Given the description of an element on the screen output the (x, y) to click on. 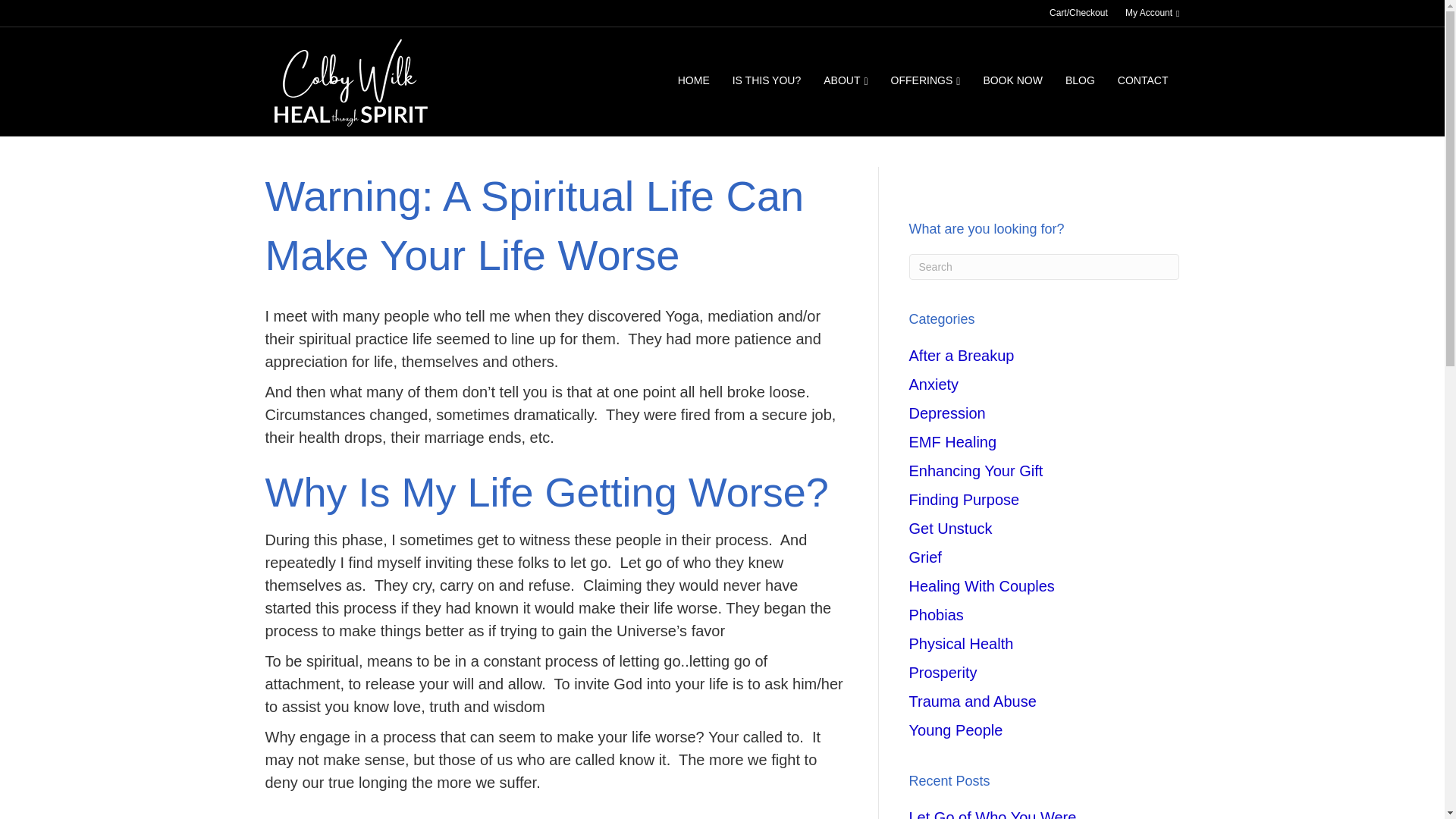
IS THIS YOU? (766, 80)
BLOG (1080, 80)
ABOUT (845, 80)
BOOK NOW (1012, 80)
OFFERINGS (925, 80)
My Account (1152, 13)
HOME (693, 80)
Type and press Enter to search. (1043, 266)
CONTACT (1142, 80)
